Given the description of an element on the screen output the (x, y) to click on. 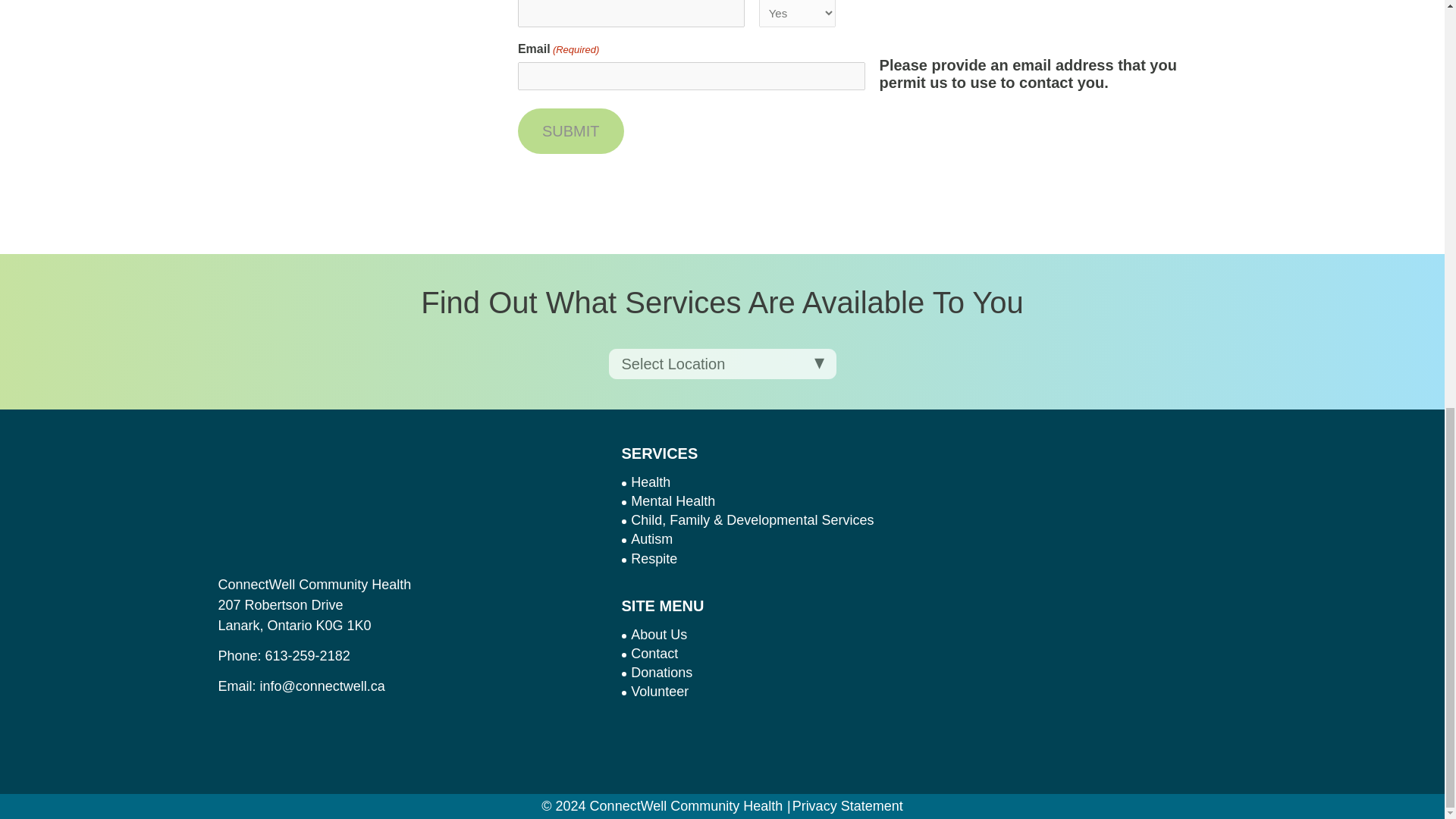
Submit (571, 130)
